Given the description of an element on the screen output the (x, y) to click on. 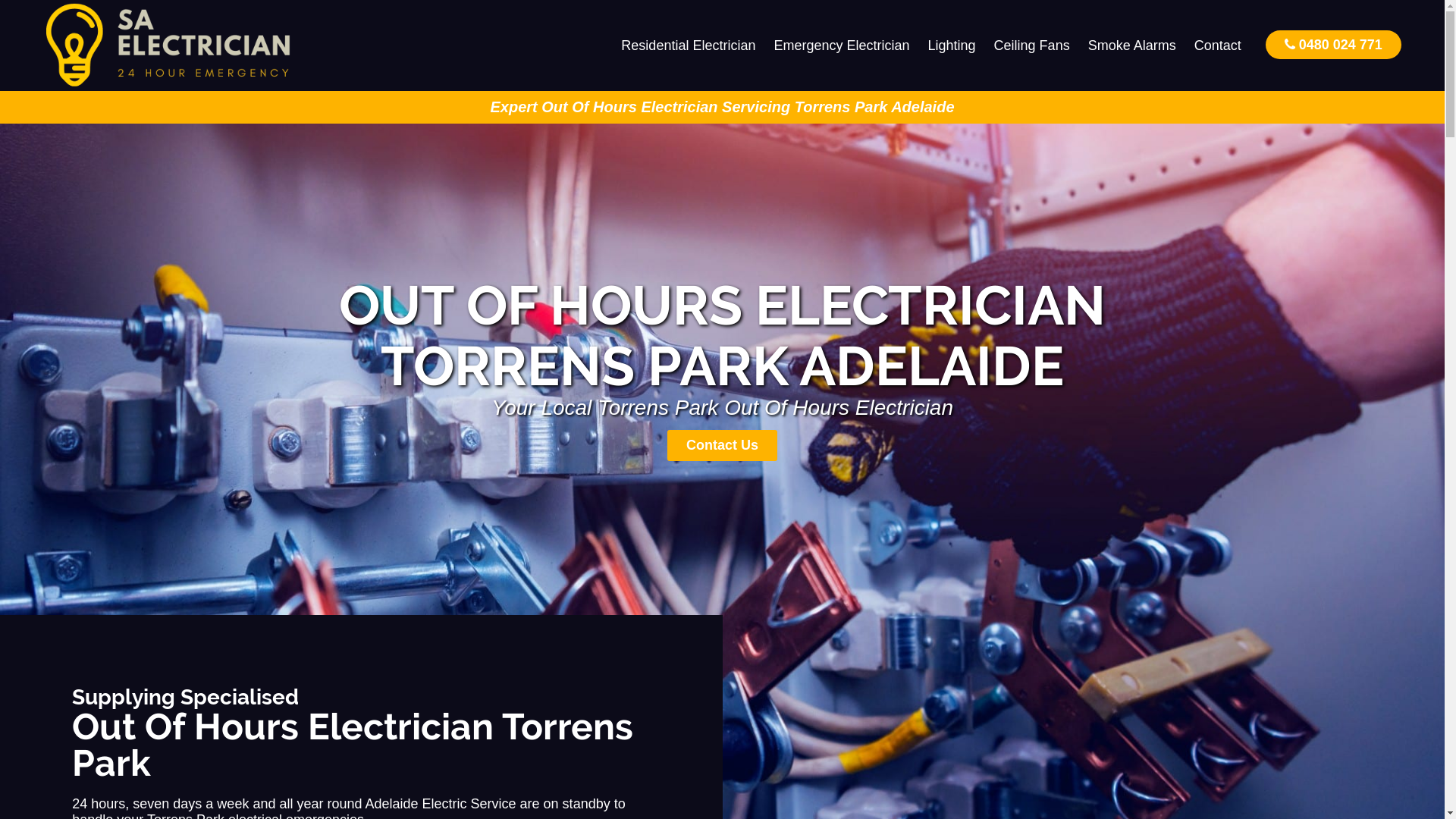
Residential Electrician Element type: text (687, 45)
Lighting Element type: text (952, 45)
Emergency Electrician Element type: text (841, 45)
Smoke Alarms Element type: text (1132, 45)
Contact Element type: text (1217, 45)
Ceiling Fans Element type: text (1032, 45)
0480 024 771 Element type: text (1333, 44)
Contact Us Element type: text (722, 445)
